Given the description of an element on the screen output the (x, y) to click on. 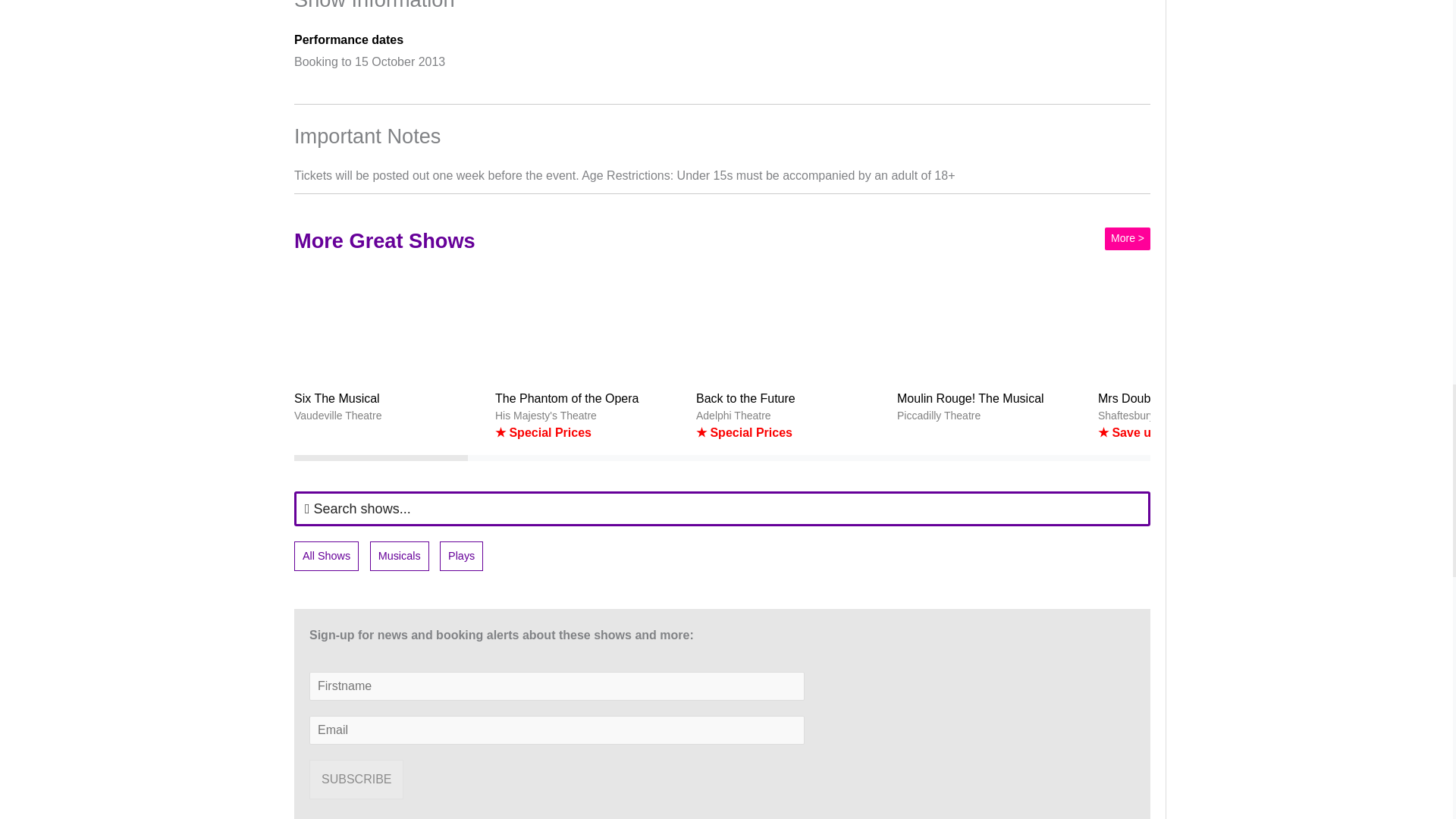
Mrs Doubtfire The Musical  (1192, 322)
The Phantom of the Opera (589, 322)
Mrs Doubtfire The Musical Tickets (1192, 355)
Moulin Rouge! The Musical (991, 322)
Six The Musical (388, 322)
Six The Musical Tickets (388, 345)
Back to the Future: The Musical Tickets (790, 355)
Moulin Rouge! The Musical Tickets (991, 345)
Back to the Future (790, 322)
The Phantom of the Opera Tickets (589, 355)
